Given the description of an element on the screen output the (x, y) to click on. 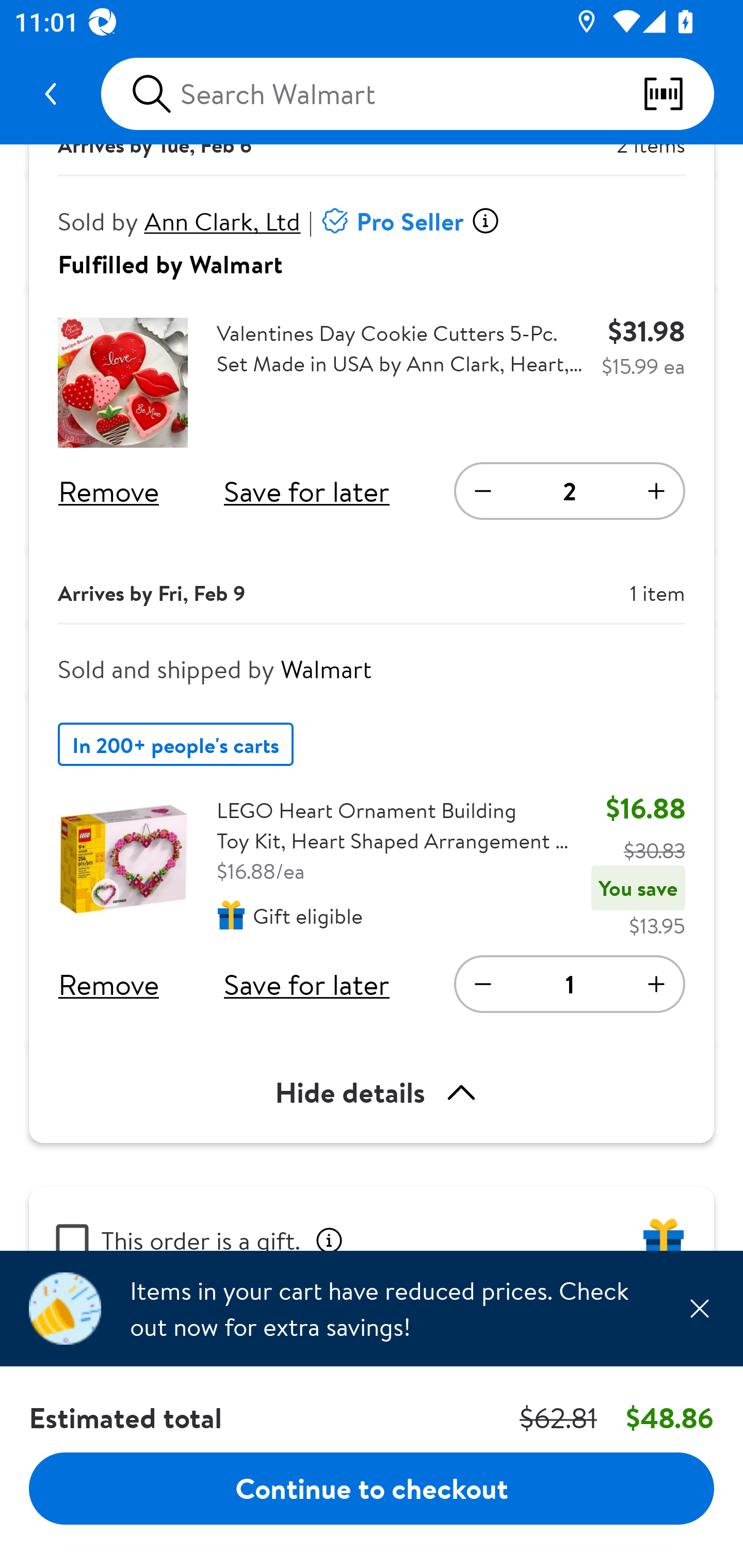
Navigate up (50, 93)
Search Walmart Opens barcode scanner (407, 94)
Opens barcode scanner (677, 94)
Sold by Ann Clark, Ltd (178, 220)
Info for Pro Seller (485, 220)
Item image (122, 383)
Item image (122, 859)
Hide details Expanded Hide details (371, 1092)
Learn more about gifting (329, 1238)
Close (699, 1308)
Continue to checkout (371, 1487)
